Given the description of an element on the screen output the (x, y) to click on. 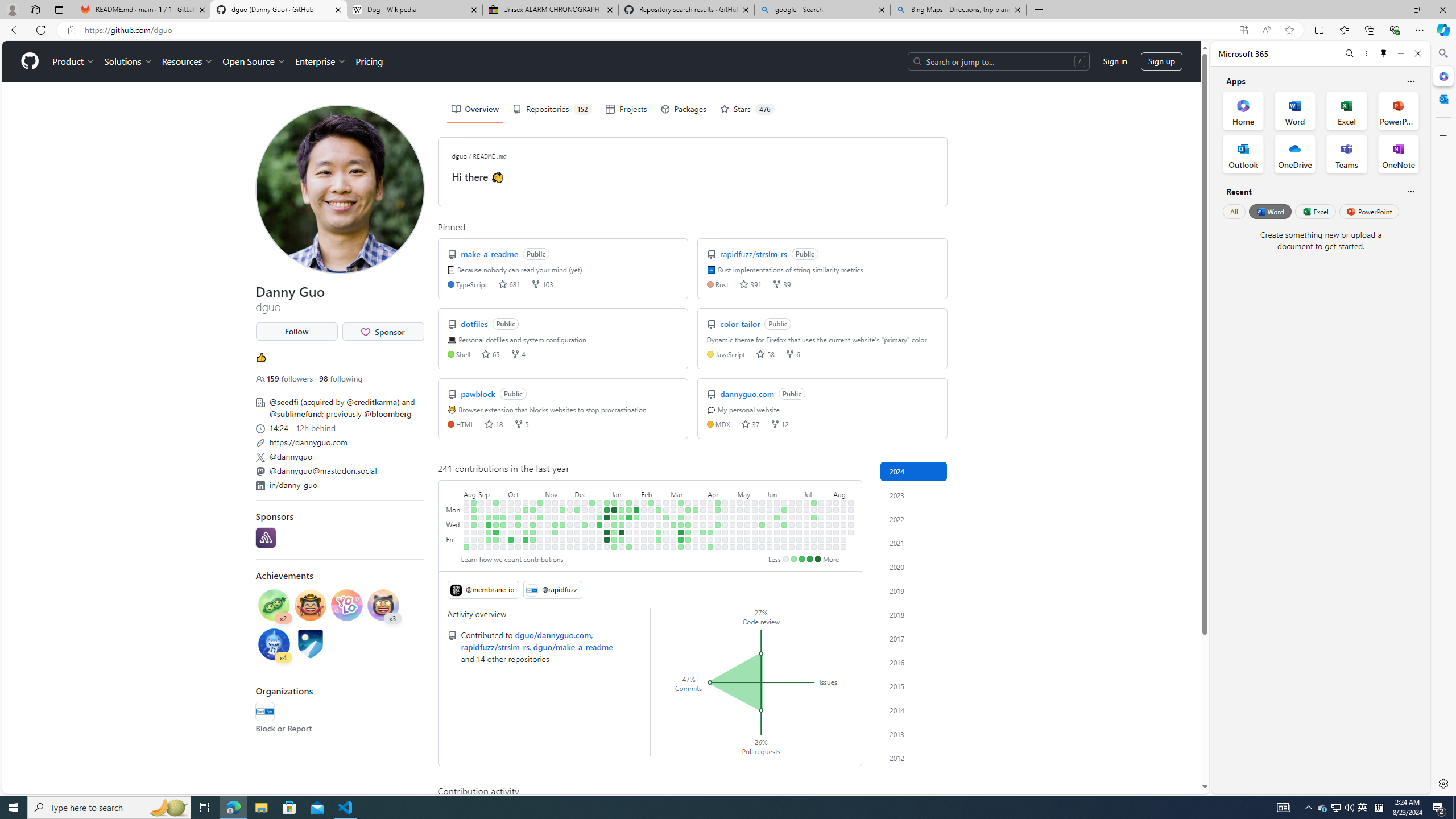
forks 5 (520, 423)
No contributions on May 23rd. (754, 531)
No contributions on October 4th. (510, 524)
2013 (913, 733)
1 contribution on January 11th. (614, 531)
No contributions on September 10th. (489, 502)
No contributions on April 26th. (725, 539)
No contributions on September 24th. (503, 502)
1 contribution on December 4th. (577, 509)
Achievement: Starstruck (382, 605)
No contributions on July 27th. (821, 546)
No contributions on October 17th. (525, 517)
Thursday (454, 531)
